Given the description of an element on the screen output the (x, y) to click on. 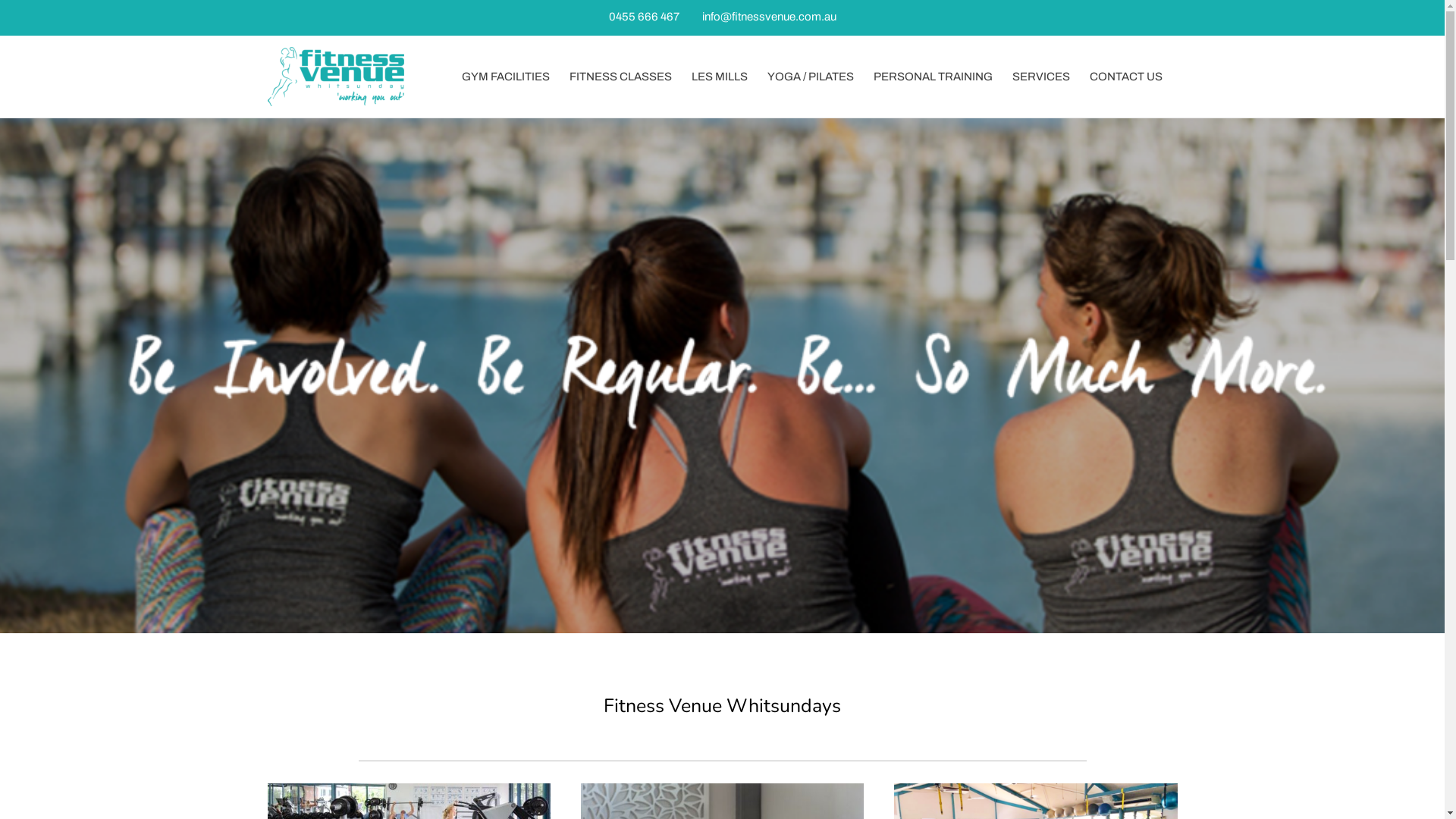
LES MILLS Element type: text (724, 76)
PERSONAL TRAINING Element type: text (938, 76)
CONTACT US Element type: text (1130, 76)
info@fitnessvenue.com.au Element type: text (768, 17)
YOGA / PILATES Element type: text (815, 76)
SERVICES Element type: text (1045, 76)
FITNESS CLASSES Element type: text (625, 76)
0455 666 467 Element type: text (643, 17)
GYM FACILITIES Element type: text (510, 76)
